Given the description of an element on the screen output the (x, y) to click on. 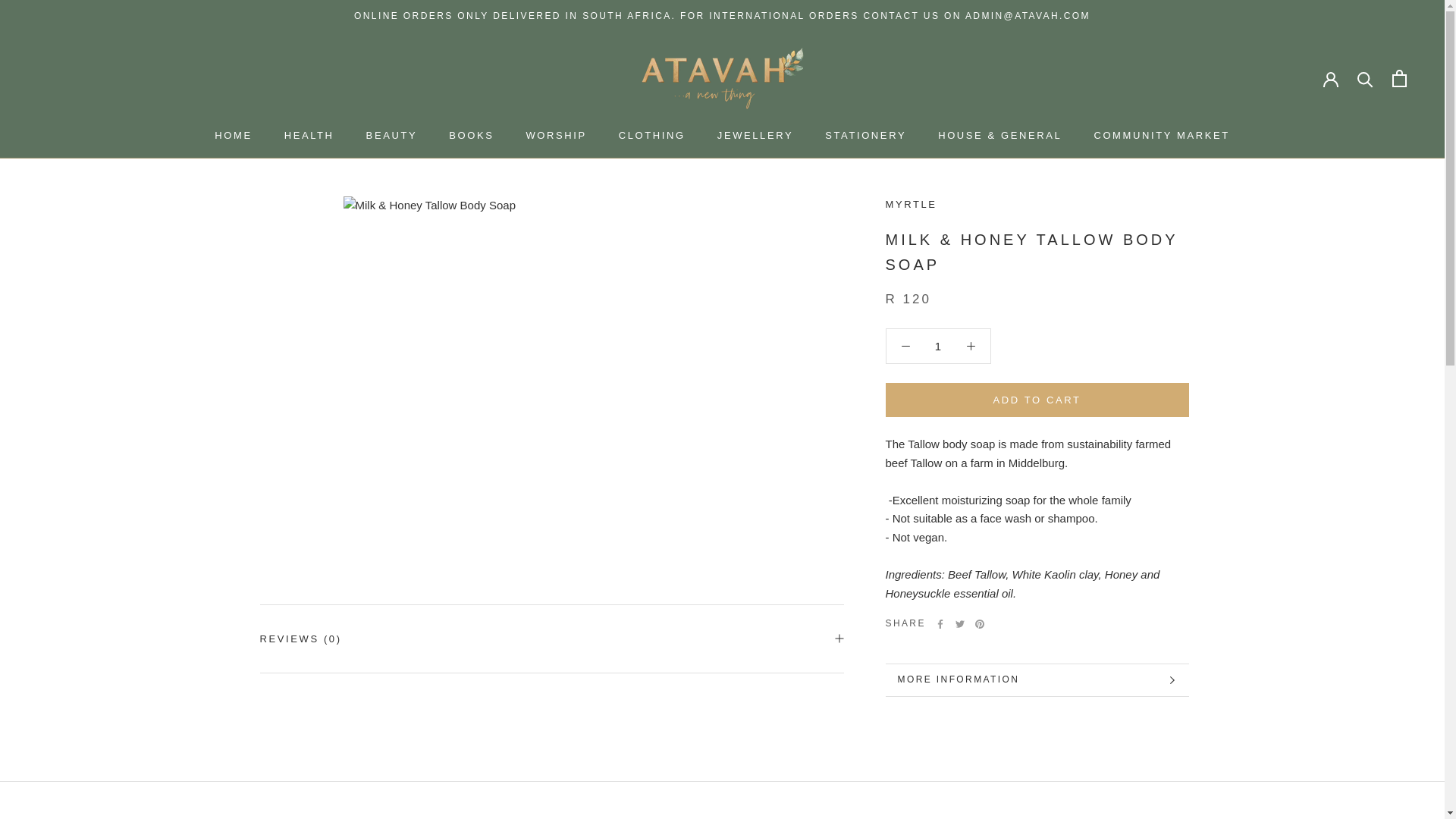
1 (938, 345)
